Given the description of an element on the screen output the (x, y) to click on. 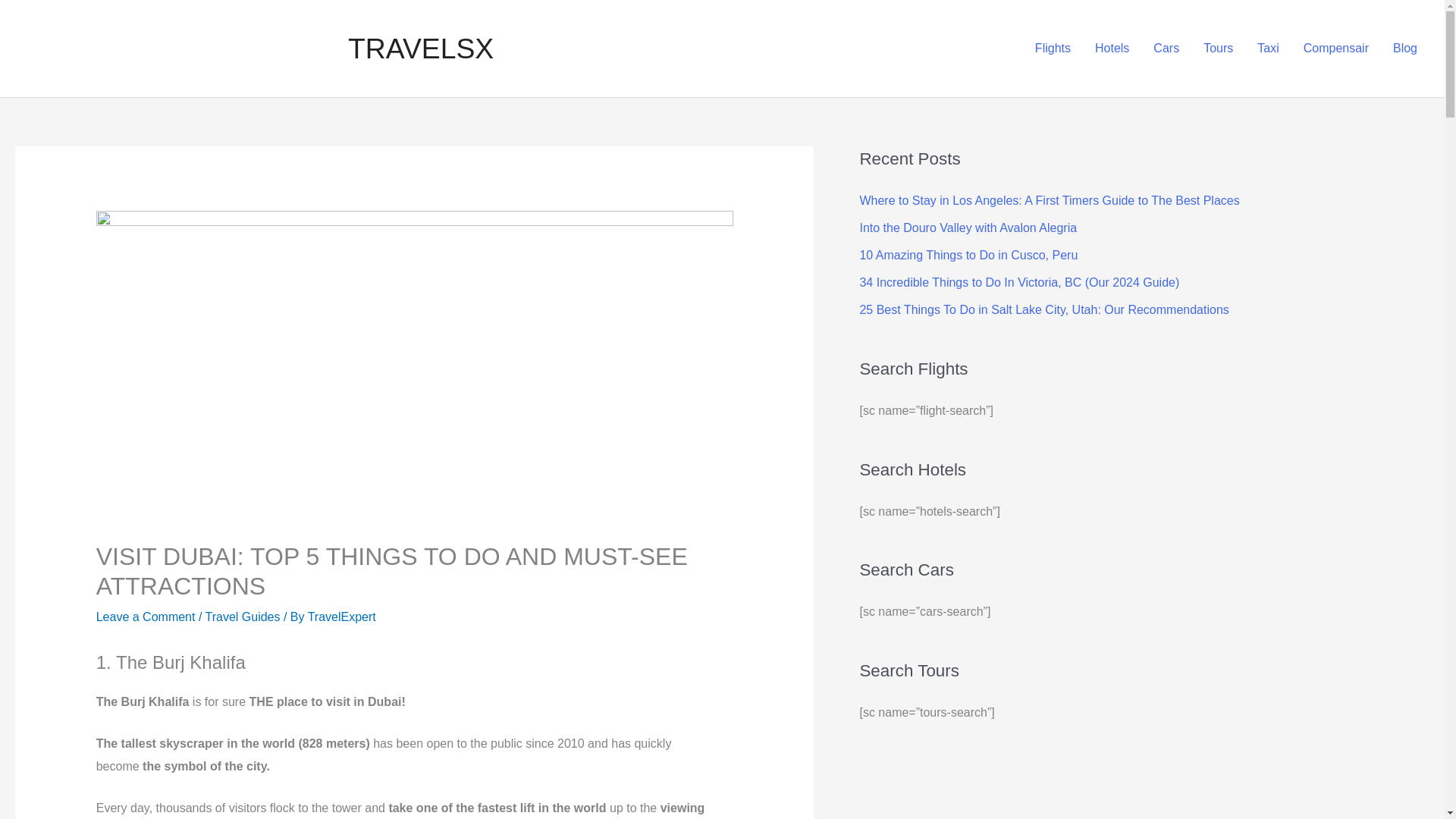
Blog (1404, 48)
TravelExpert (341, 616)
Leave a Comment (145, 616)
Travel Guides (243, 616)
Compensair (1335, 48)
Tours (1217, 48)
Hotels (1112, 48)
View all posts by TravelExpert (341, 616)
Cars (1166, 48)
Flights (1053, 48)
TRAVELSX (420, 48)
